Given the description of an element on the screen output the (x, y) to click on. 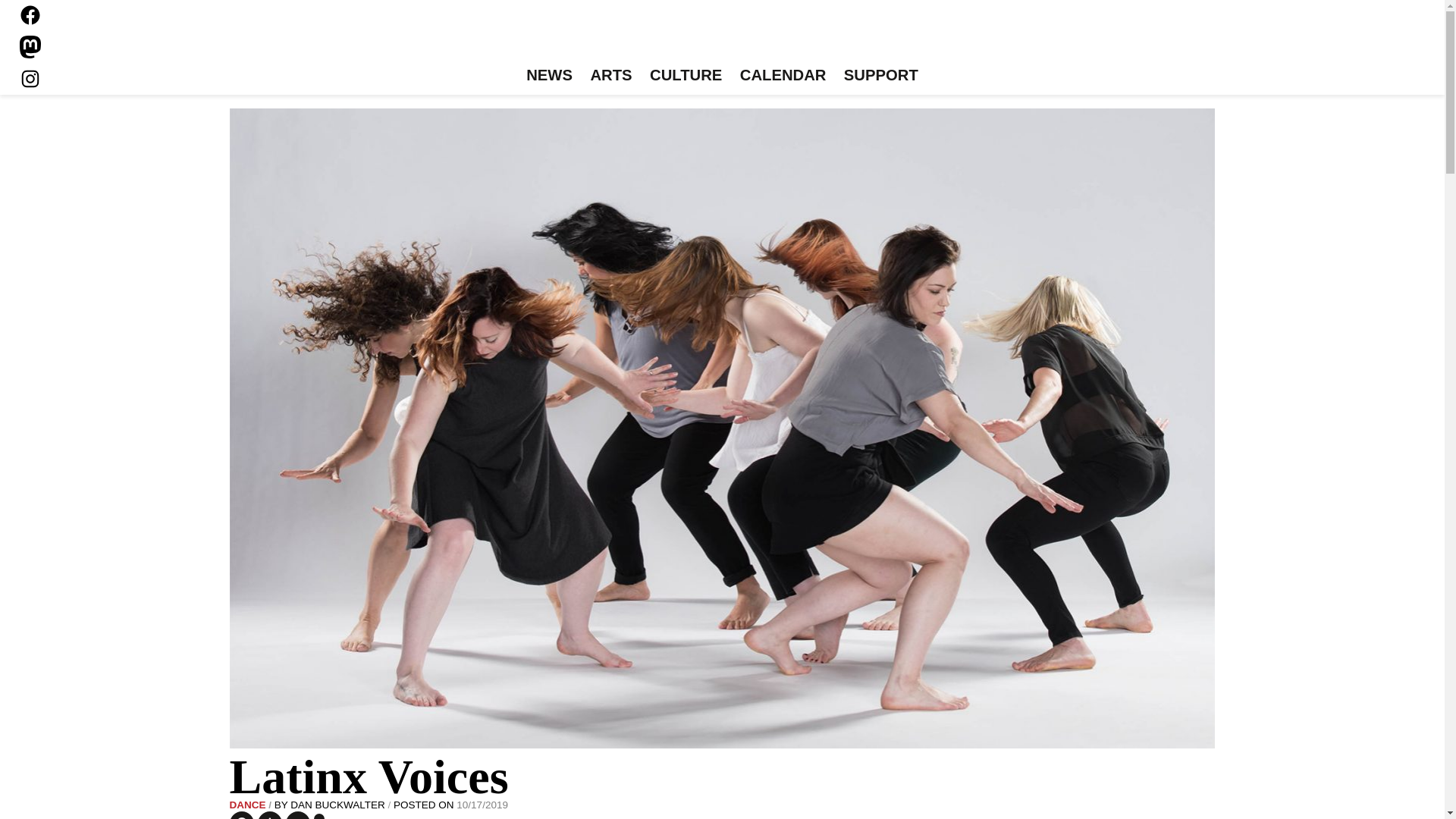
Click to share on Facebook (240, 815)
SUPPORT (880, 75)
CULTURE (685, 75)
Mastodon (30, 47)
Click to share on Tumblr (269, 815)
NEWS (548, 75)
ARTS (611, 75)
Click to email a link to a friend (296, 815)
CALENDAR (782, 75)
Click to print (319, 816)
